Given the description of an element on the screen output the (x, y) to click on. 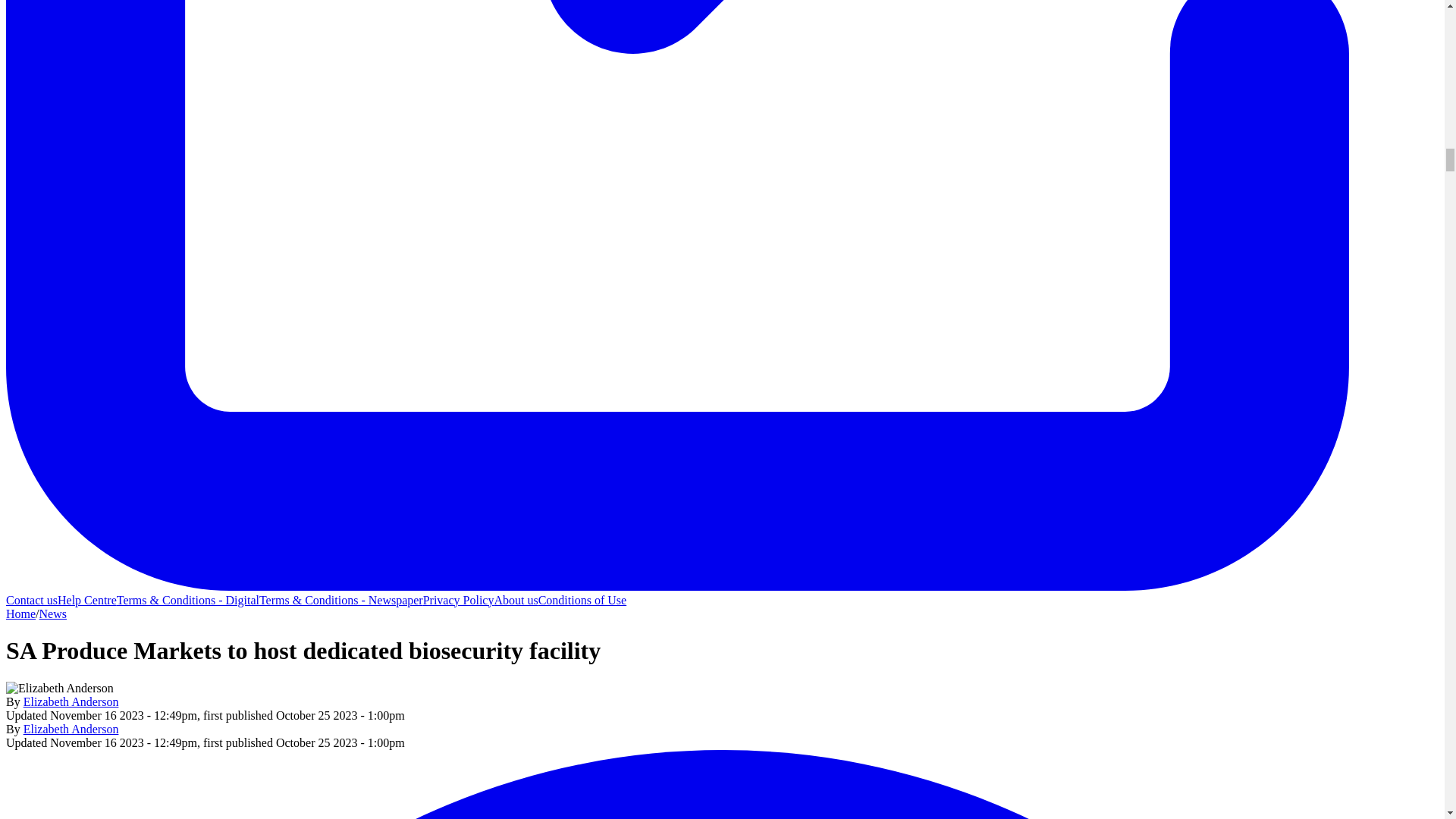
Contact us (31, 599)
Help Centre (87, 599)
